Given the description of an element on the screen output the (x, y) to click on. 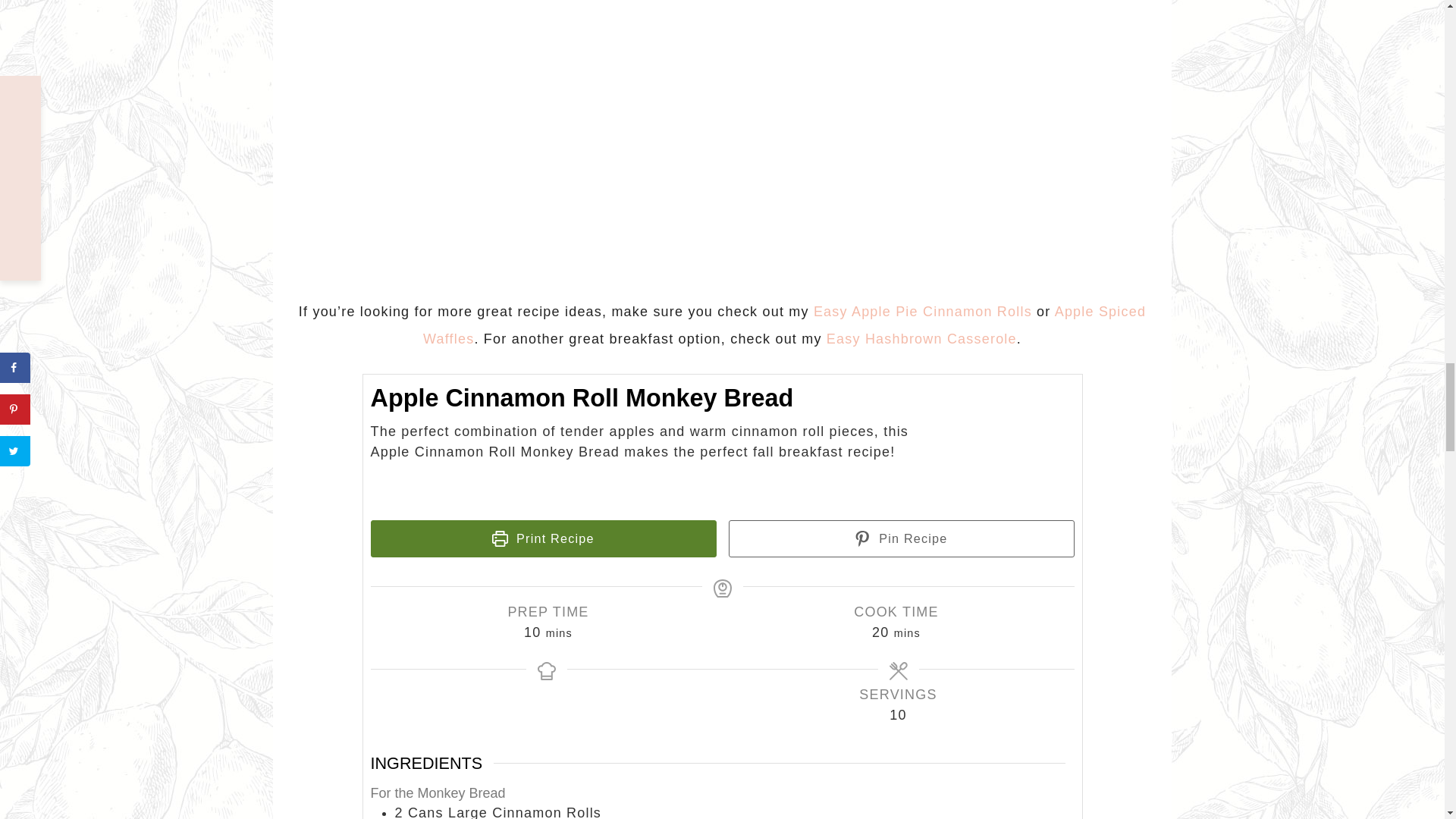
Print Recipe (542, 538)
Pin Recipe (901, 538)
Apple Spiced Waffles (784, 324)
Easy Apple Pie Cinnamon Rolls (922, 311)
Easy Hashbrown Casserole (921, 338)
